Given the description of an element on the screen output the (x, y) to click on. 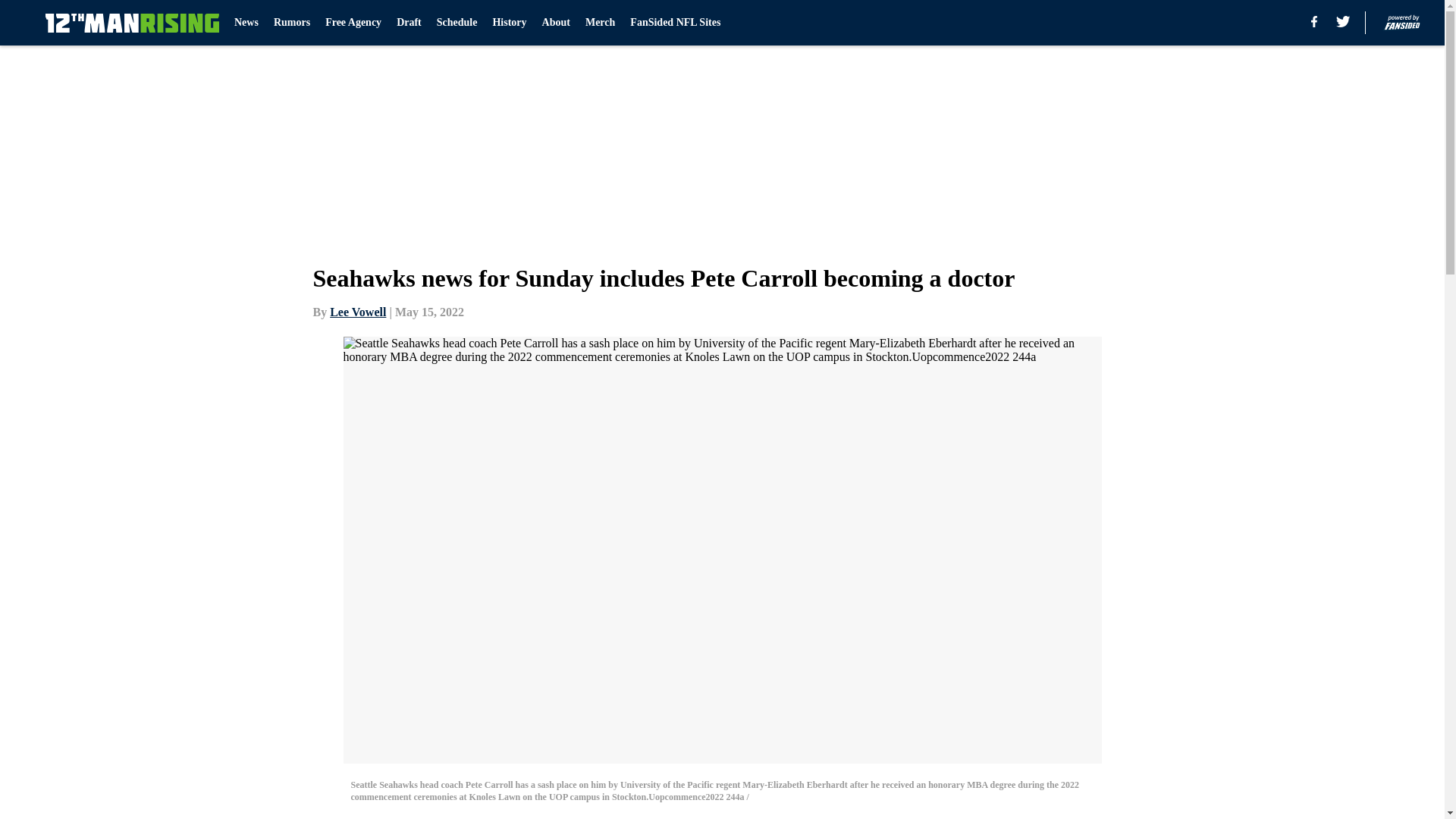
Lee Vowell (357, 311)
Draft (409, 22)
About (555, 22)
FanSided NFL Sites (675, 22)
News (246, 22)
Free Agency (352, 22)
Rumors (291, 22)
Merch (599, 22)
Schedule (456, 22)
